Given the description of an element on the screen output the (x, y) to click on. 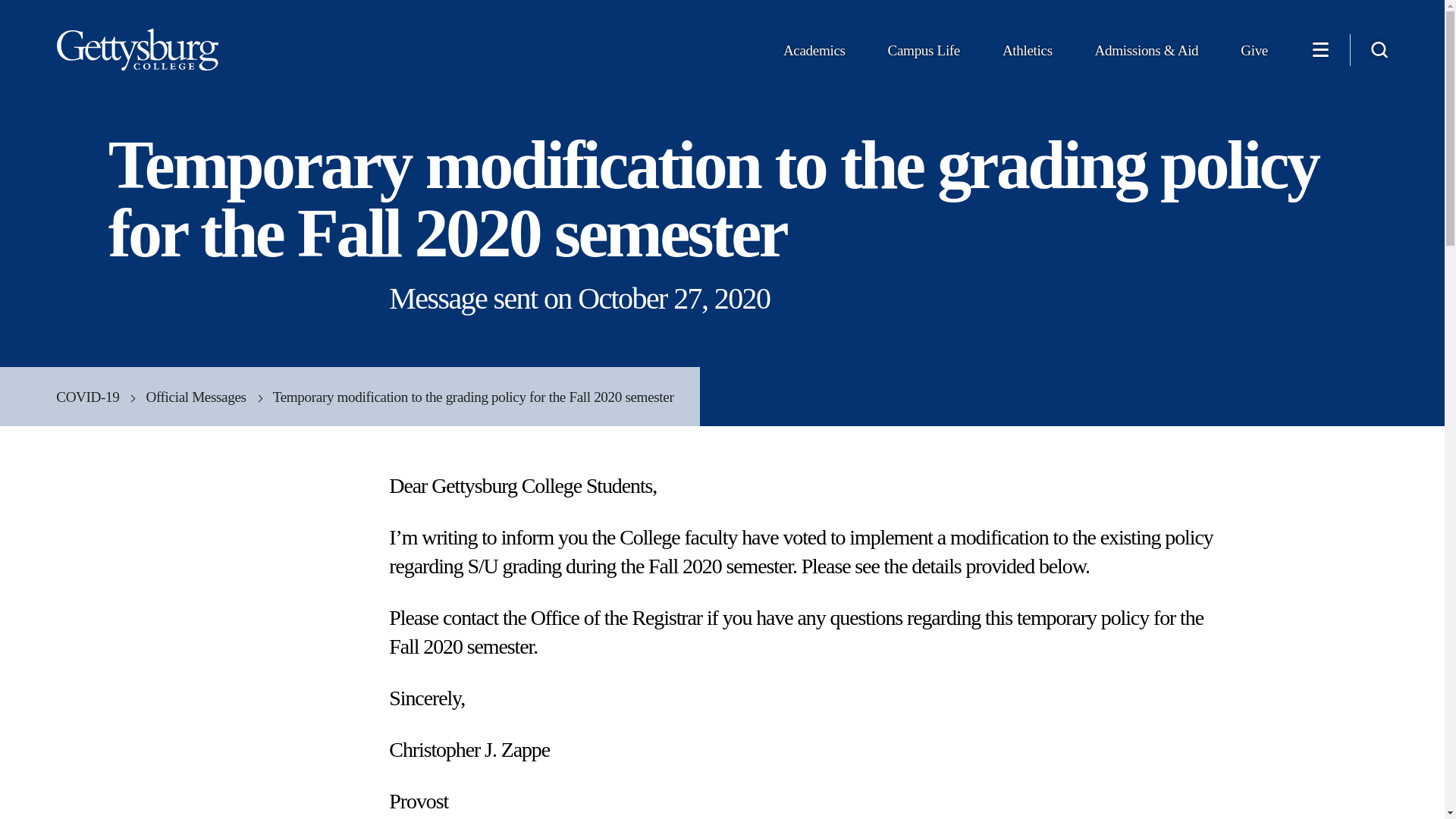
Gettysburg College (137, 49)
Athletics (1027, 54)
COVID-19 (100, 395)
Give (1254, 54)
Official Messages (208, 395)
Academics (814, 54)
Campus Life (923, 54)
Gettysburg College (137, 49)
